Given the description of an element on the screen output the (x, y) to click on. 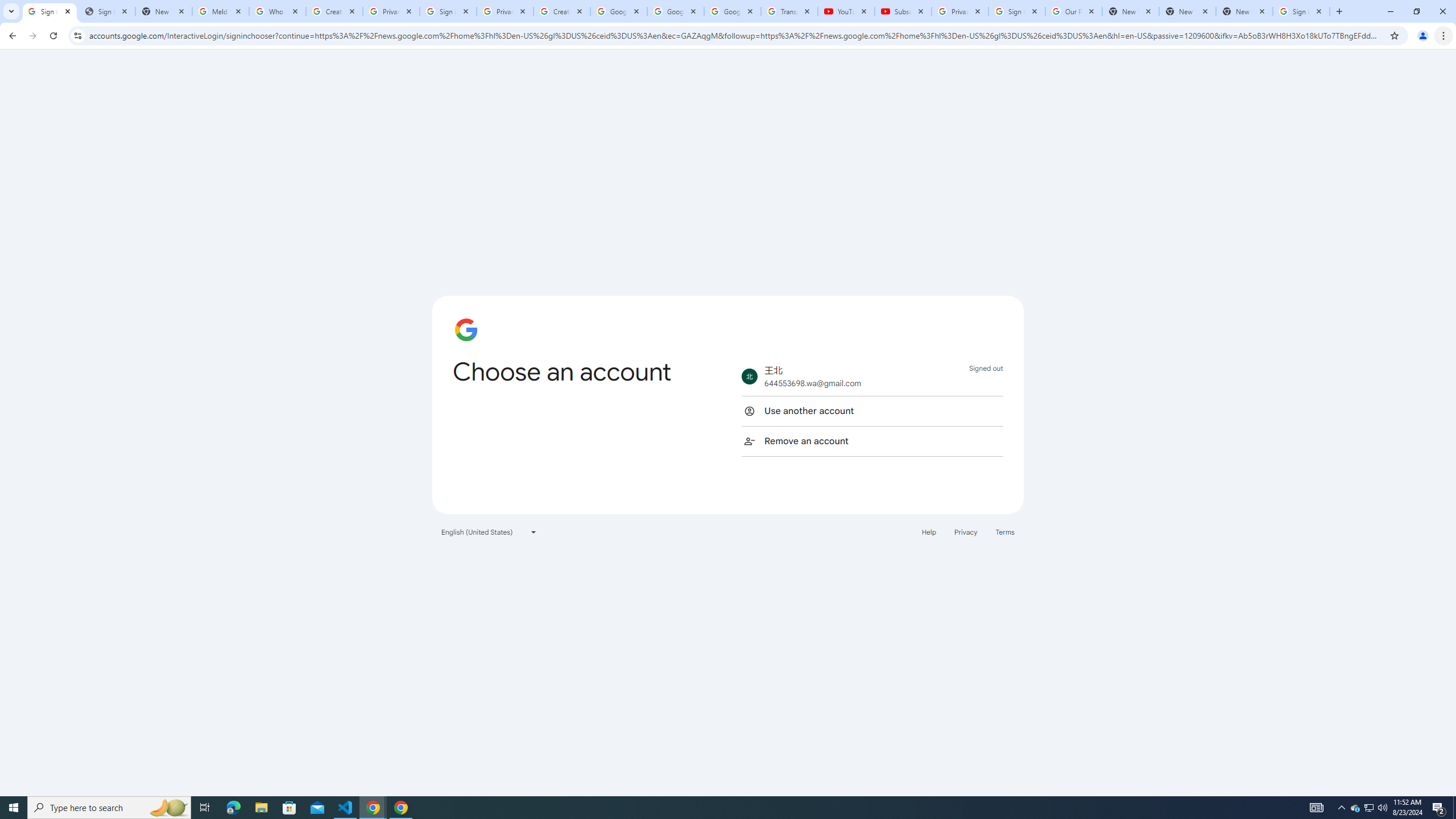
Create your Google Account (561, 11)
Who is my administrator? - Google Account Help (277, 11)
Sign In - USA TODAY (105, 11)
New Tab (1244, 11)
Sign in - Google Accounts (49, 11)
